Given the description of an element on the screen output the (x, y) to click on. 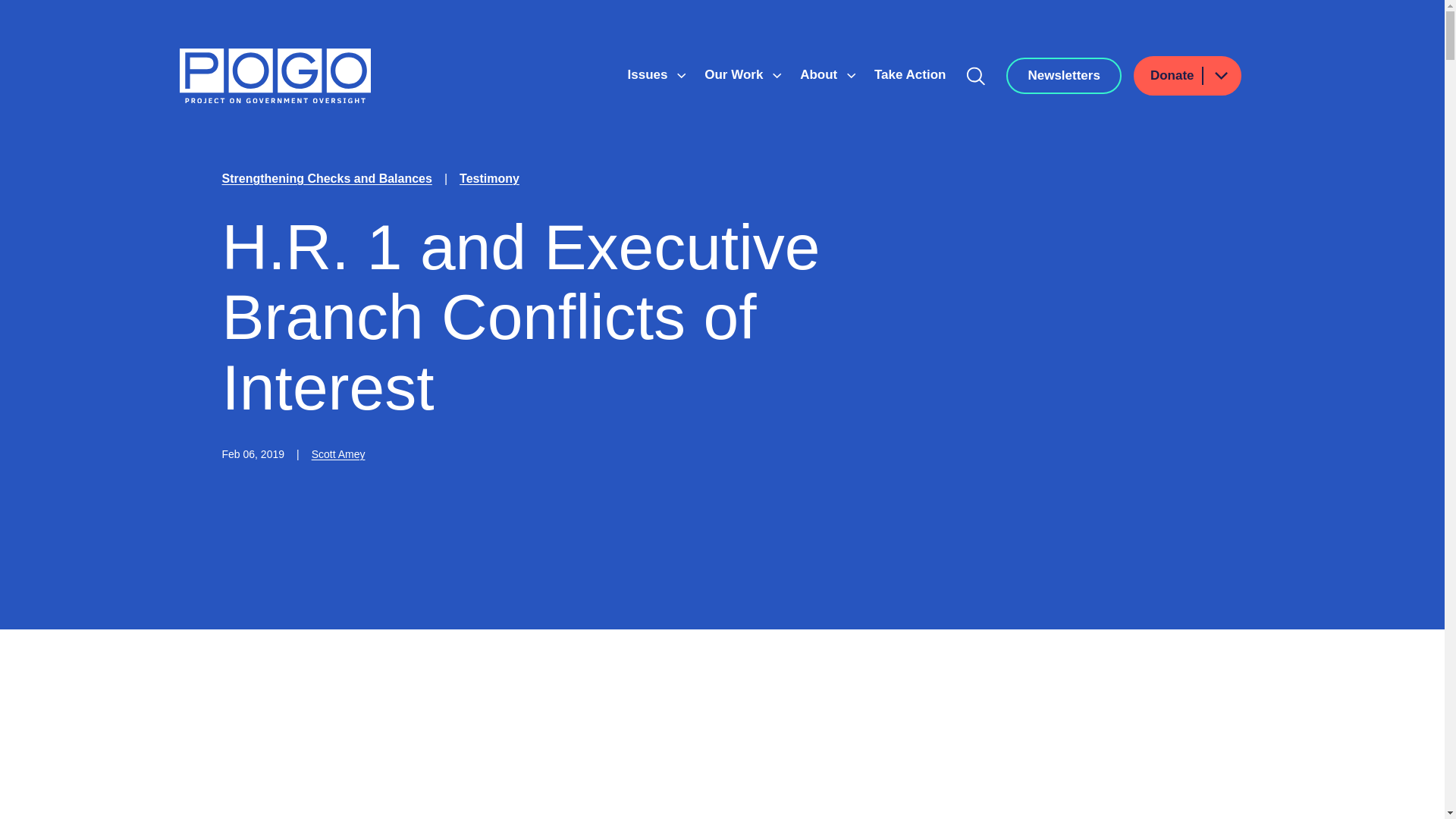
About (820, 74)
Issues (649, 74)
Show submenu for Our Work (777, 75)
Show submenu for About (851, 75)
Our Work (735, 74)
Show submenu for Issues (681, 75)
Newsletters (1063, 75)
Take Action (909, 74)
Search (976, 75)
Donate (1187, 75)
